Given the description of an element on the screen output the (x, y) to click on. 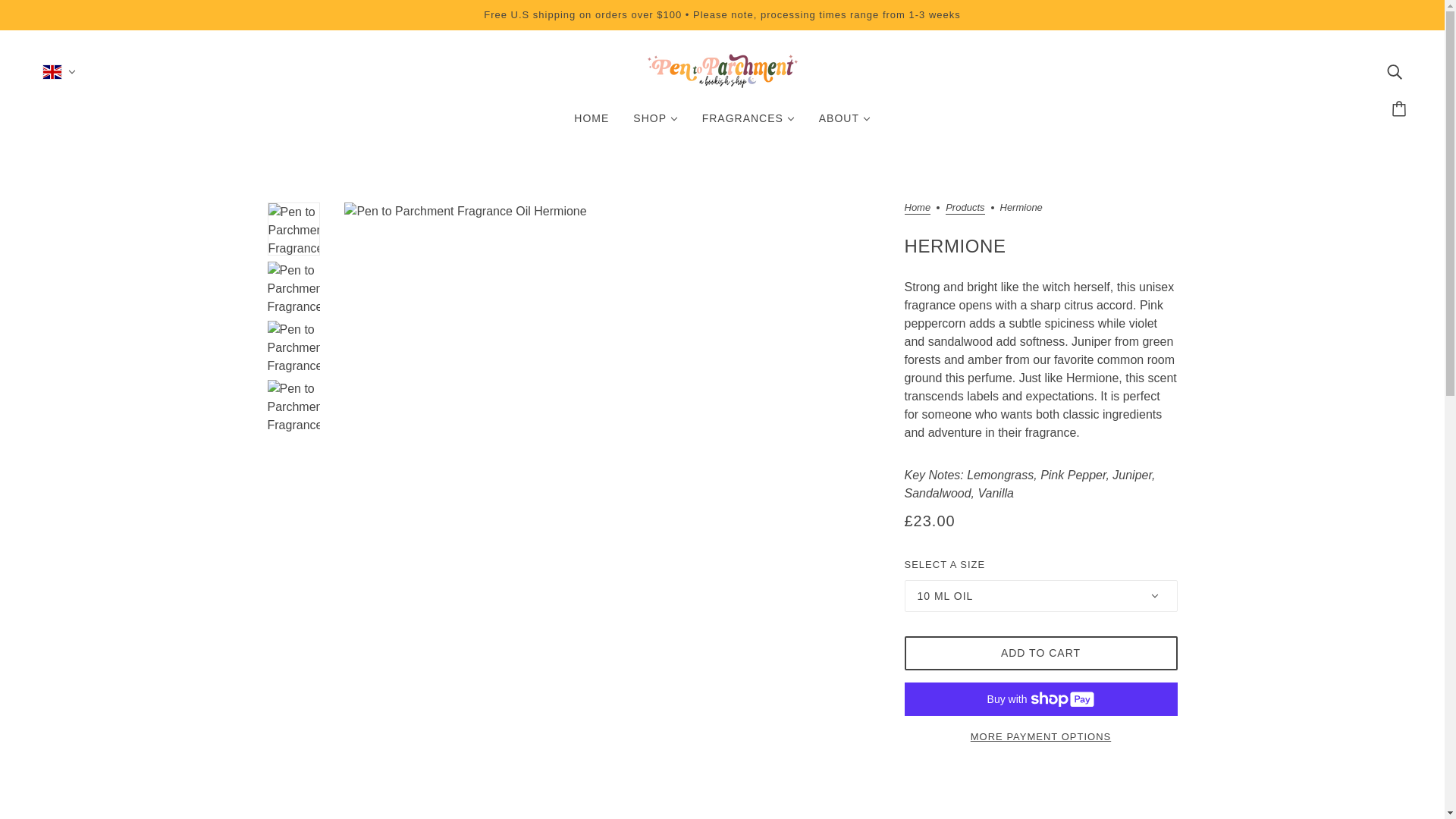
ABOUT  (844, 124)
SHOP  (654, 124)
Products (964, 208)
Pen to Parchment (721, 83)
HOME (591, 124)
ADD TO CART (1040, 653)
MORE PAYMENT OPTIONS (1040, 730)
10 ML OIL (1040, 595)
FRAGRANCES  (748, 124)
Home (917, 208)
